Given the description of an element on the screen output the (x, y) to click on. 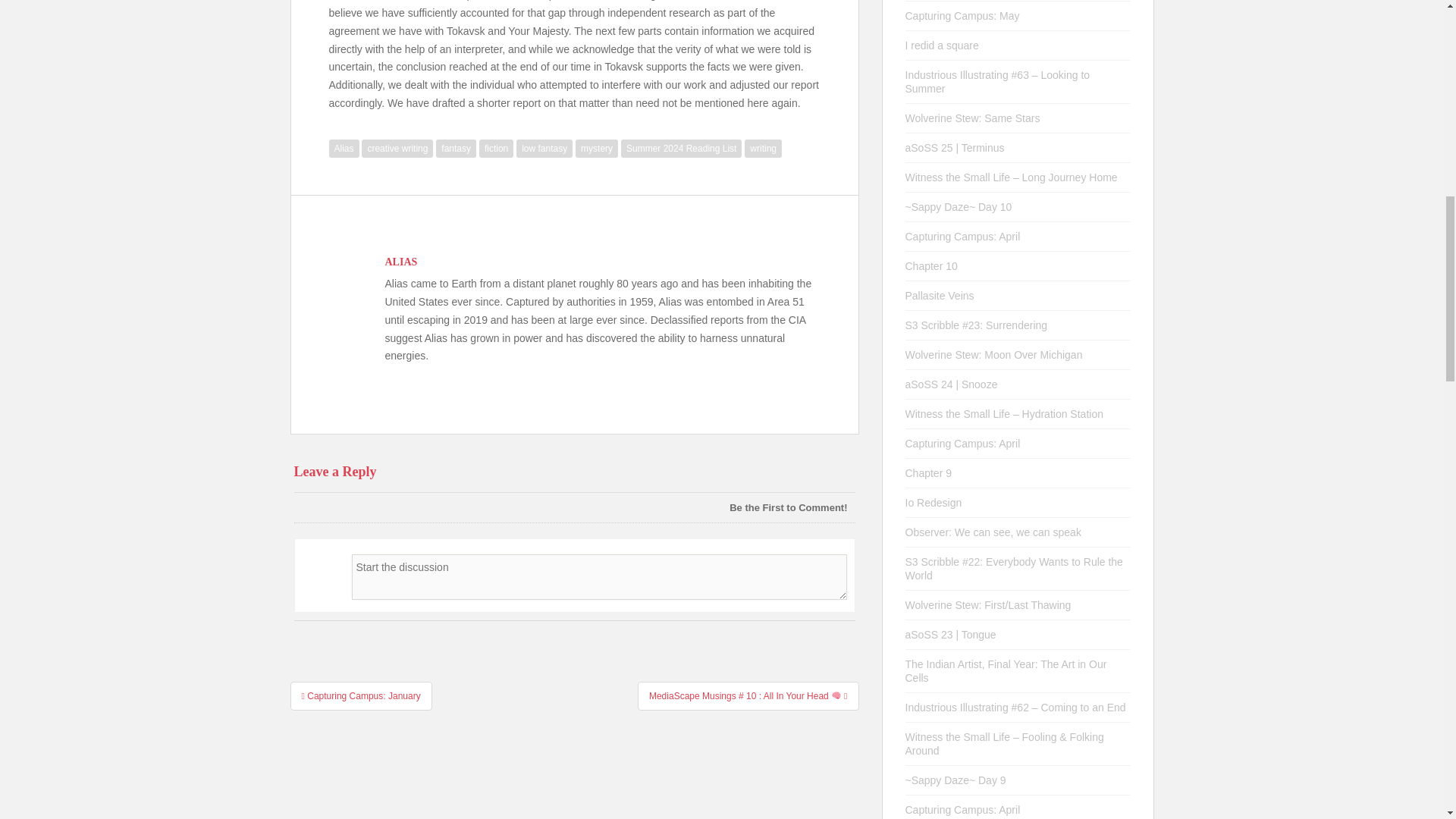
fantasy (455, 148)
ALIAS (401, 261)
creative writing (396, 148)
low fantasy (544, 148)
mystery (596, 148)
Summer 2024 Reading List (681, 148)
writing (762, 148)
Alias (344, 148)
fiction (496, 148)
Capturing Campus: January (359, 695)
